Given the description of an element on the screen output the (x, y) to click on. 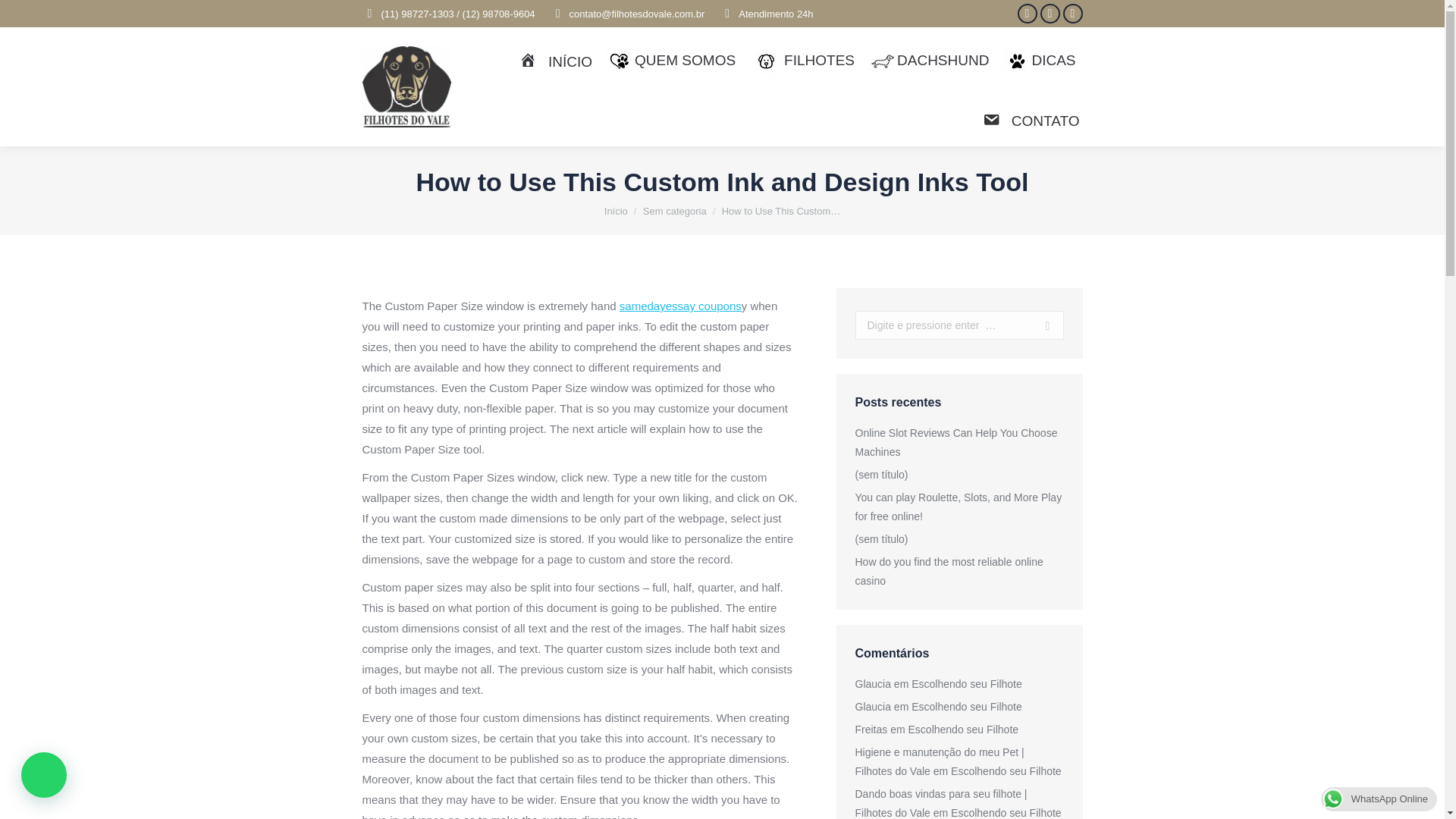
Facebook page opens in new window (1026, 13)
DICAS (1038, 60)
Go! (1042, 325)
DACHSHUND (927, 60)
Facebook page opens in new window (1026, 13)
Instagram page opens in new window (1050, 13)
Instagram page opens in new window (1050, 13)
samedayessay coupons (680, 305)
Mail page opens in new window (1072, 13)
CONTATO (1031, 120)
Go! (1042, 325)
FILHOTES (801, 60)
QUEM SOMOS (670, 60)
Mail page opens in new window (1072, 13)
Sem categoria (674, 211)
